Given the description of an element on the screen output the (x, y) to click on. 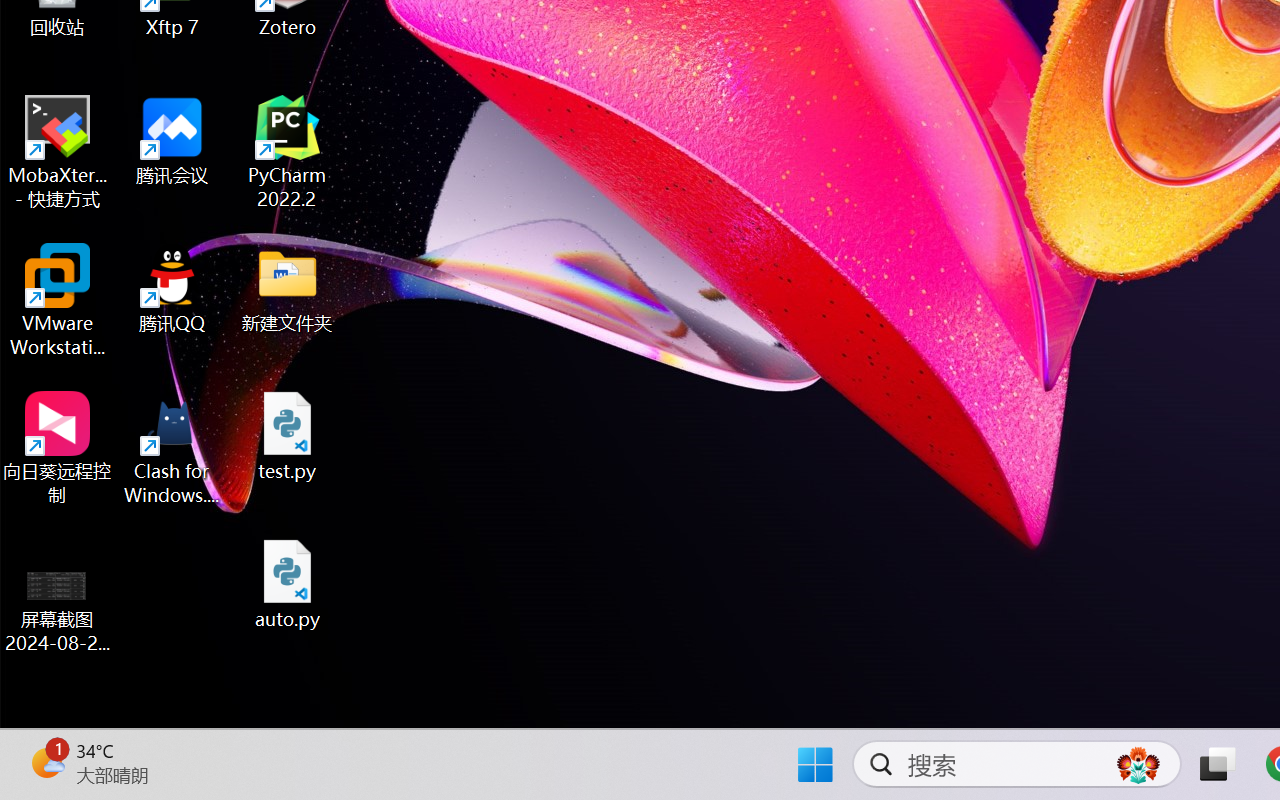
auto.py (287, 584)
PyCharm 2022.2 (287, 152)
VMware Workstation Pro (57, 300)
test.py (287, 436)
